Given the description of an element on the screen output the (x, y) to click on. 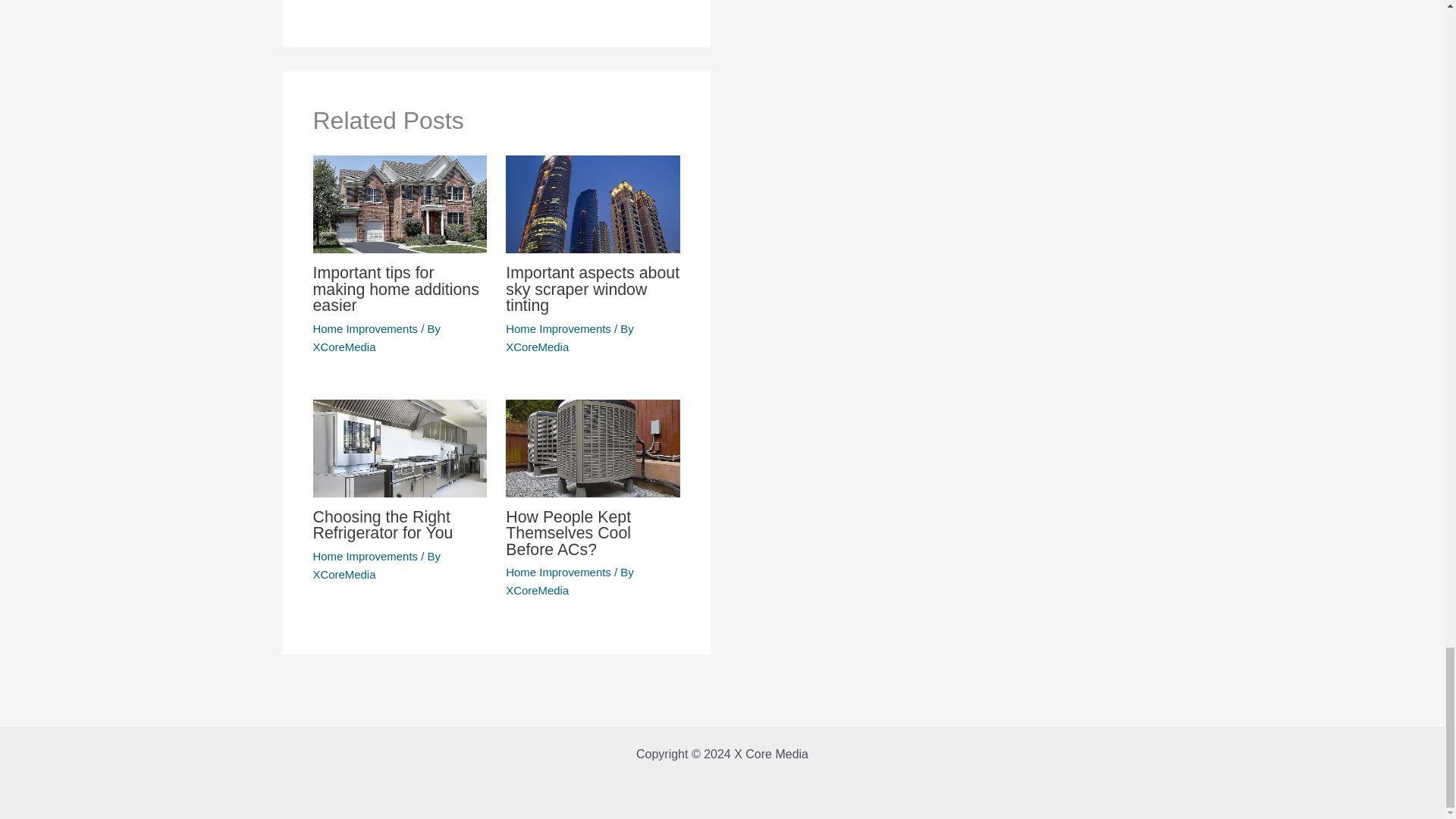
View all posts by XCoreMedia (344, 574)
View all posts by XCoreMedia (344, 346)
View all posts by XCoreMedia (537, 346)
View all posts by XCoreMedia (537, 590)
